Given the description of an element on the screen output the (x, y) to click on. 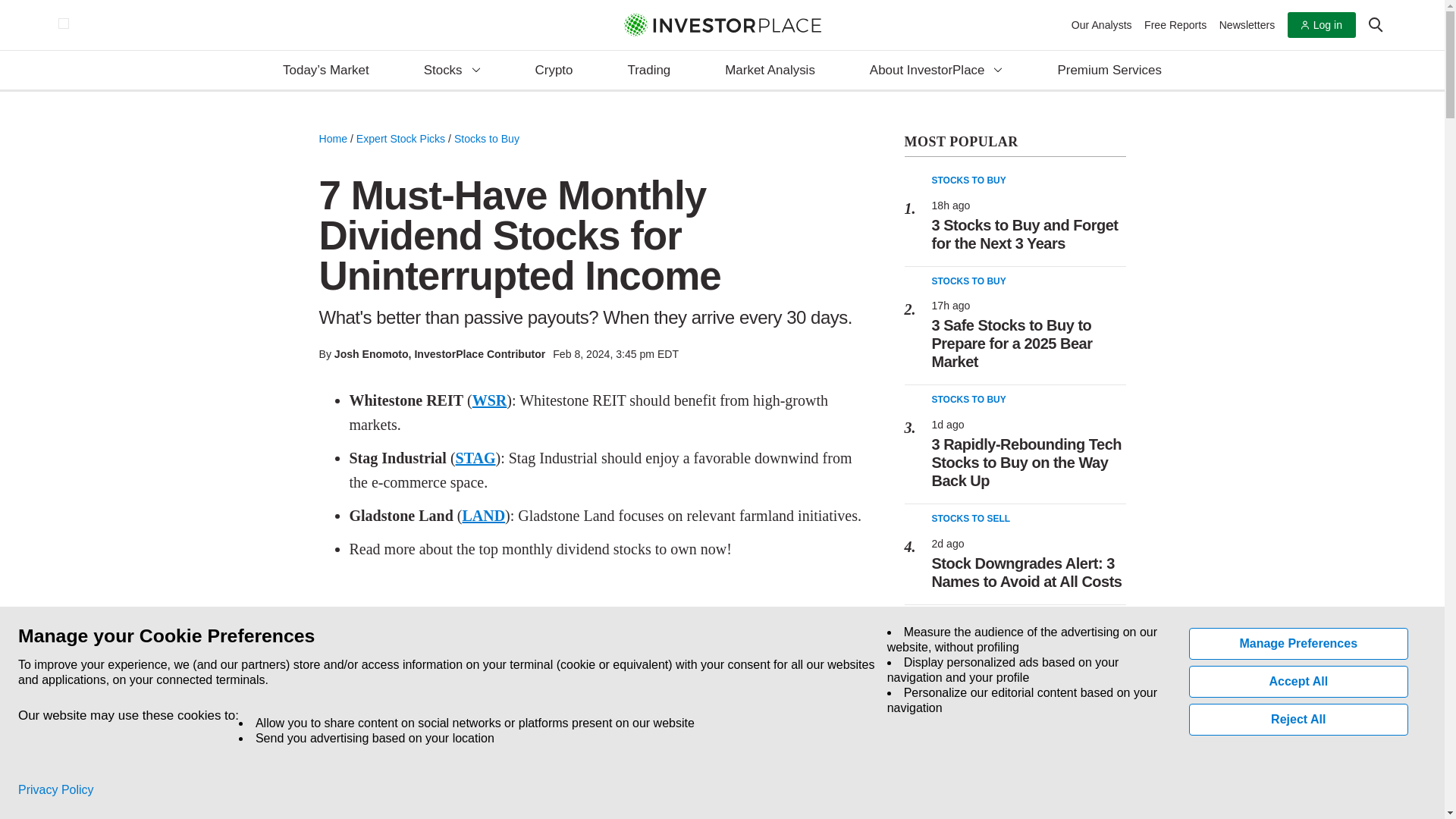
View Most Read Content (1014, 142)
Newsletters (1247, 24)
View profile of Josh Enomoto (371, 354)
Our Analysts (1101, 24)
Manage Preferences (1299, 644)
Privacy Policy (55, 789)
Accept All (1299, 681)
Free Reports (1175, 24)
Stocks (452, 70)
Log in (1321, 25)
Reject All (1299, 719)
